Given the description of an element on the screen output the (x, y) to click on. 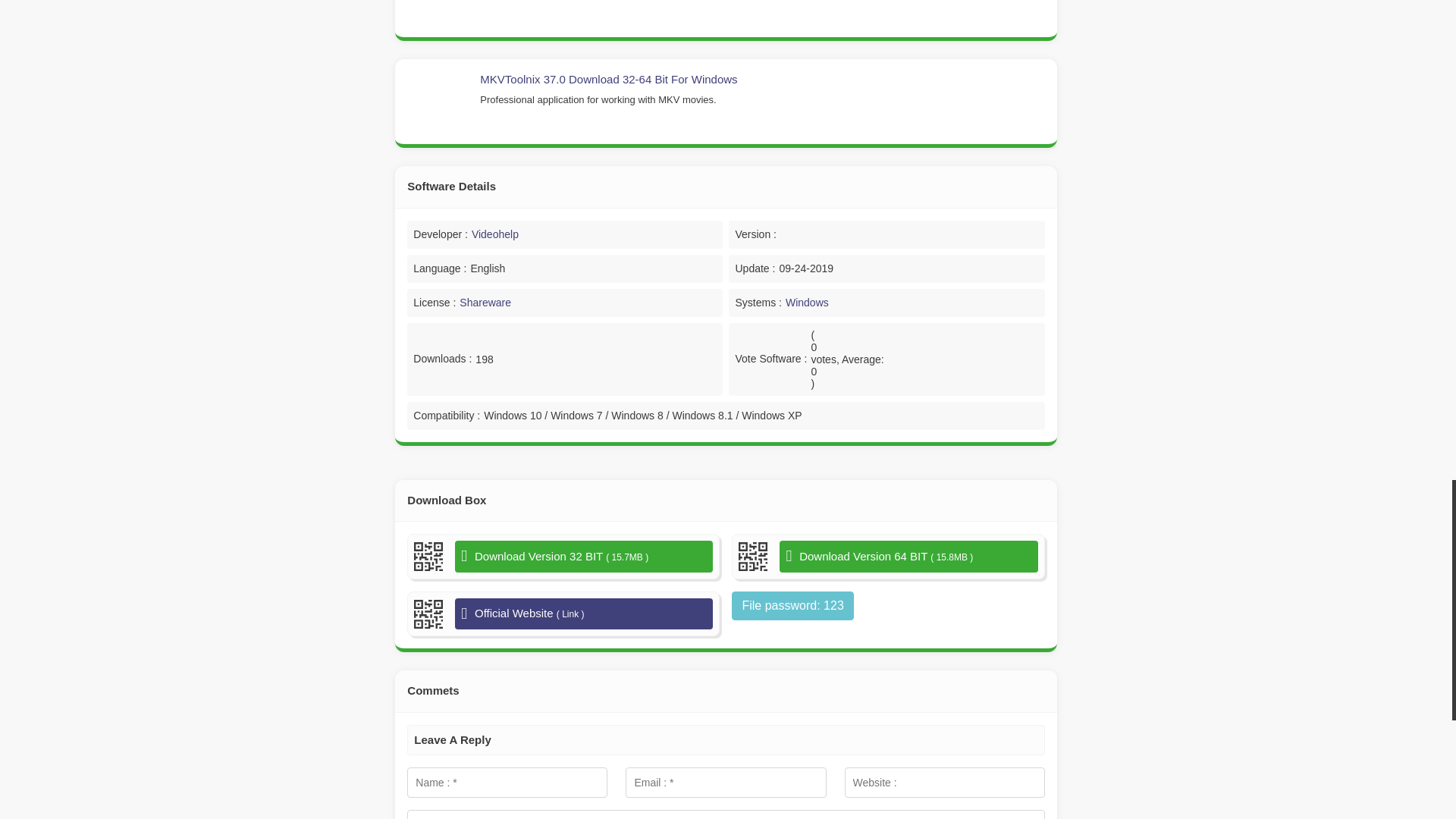
Windows (807, 301)
Shareware (485, 301)
Official Website (583, 613)
Download Version 32 BIT (583, 556)
Download Version 64 BIT (907, 556)
